Given the description of an element on the screen output the (x, y) to click on. 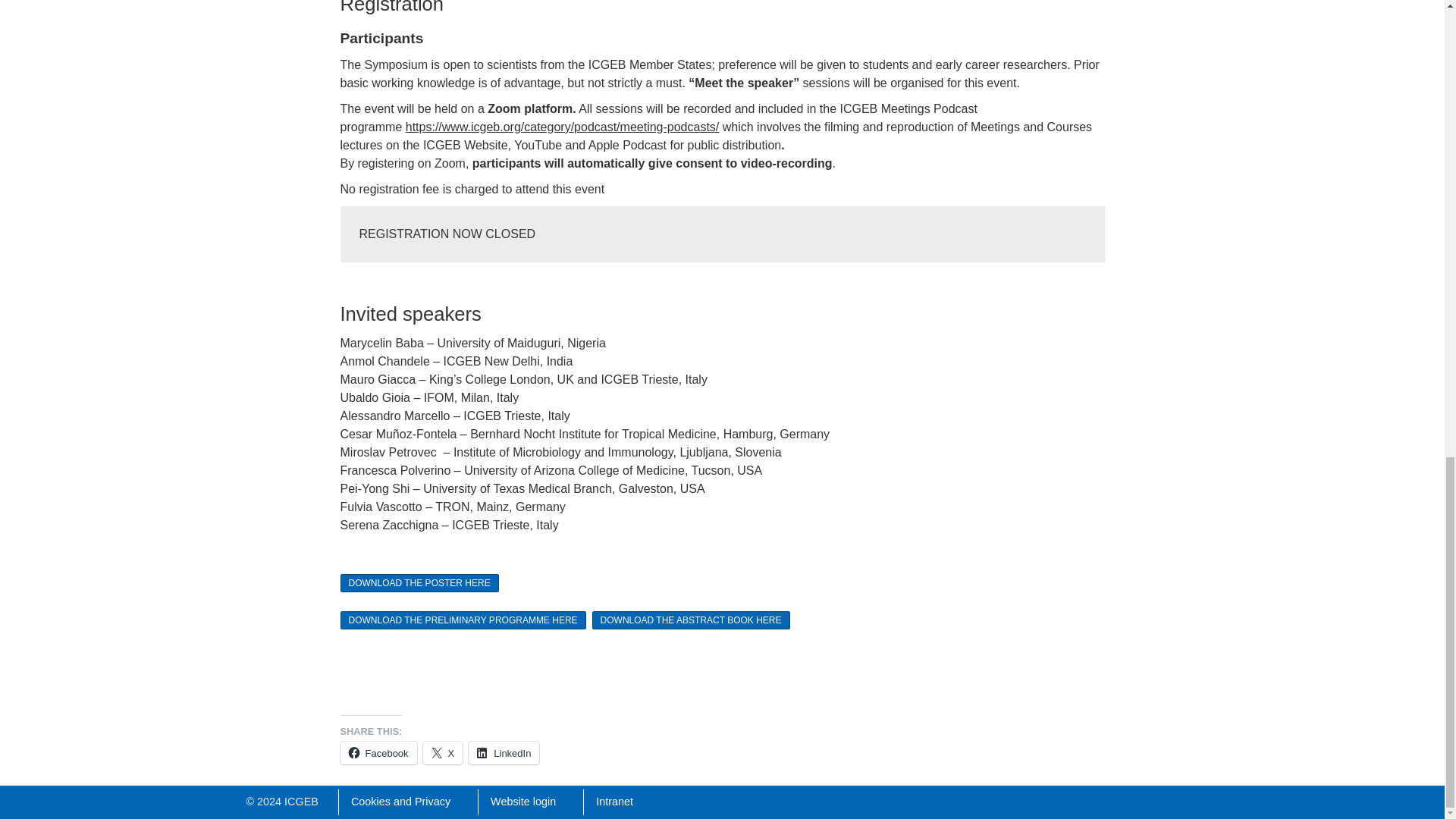
Click to share on LinkedIn (503, 753)
Click to share on X (443, 753)
Click to share on Facebook (377, 753)
